Given the description of an element on the screen output the (x, y) to click on. 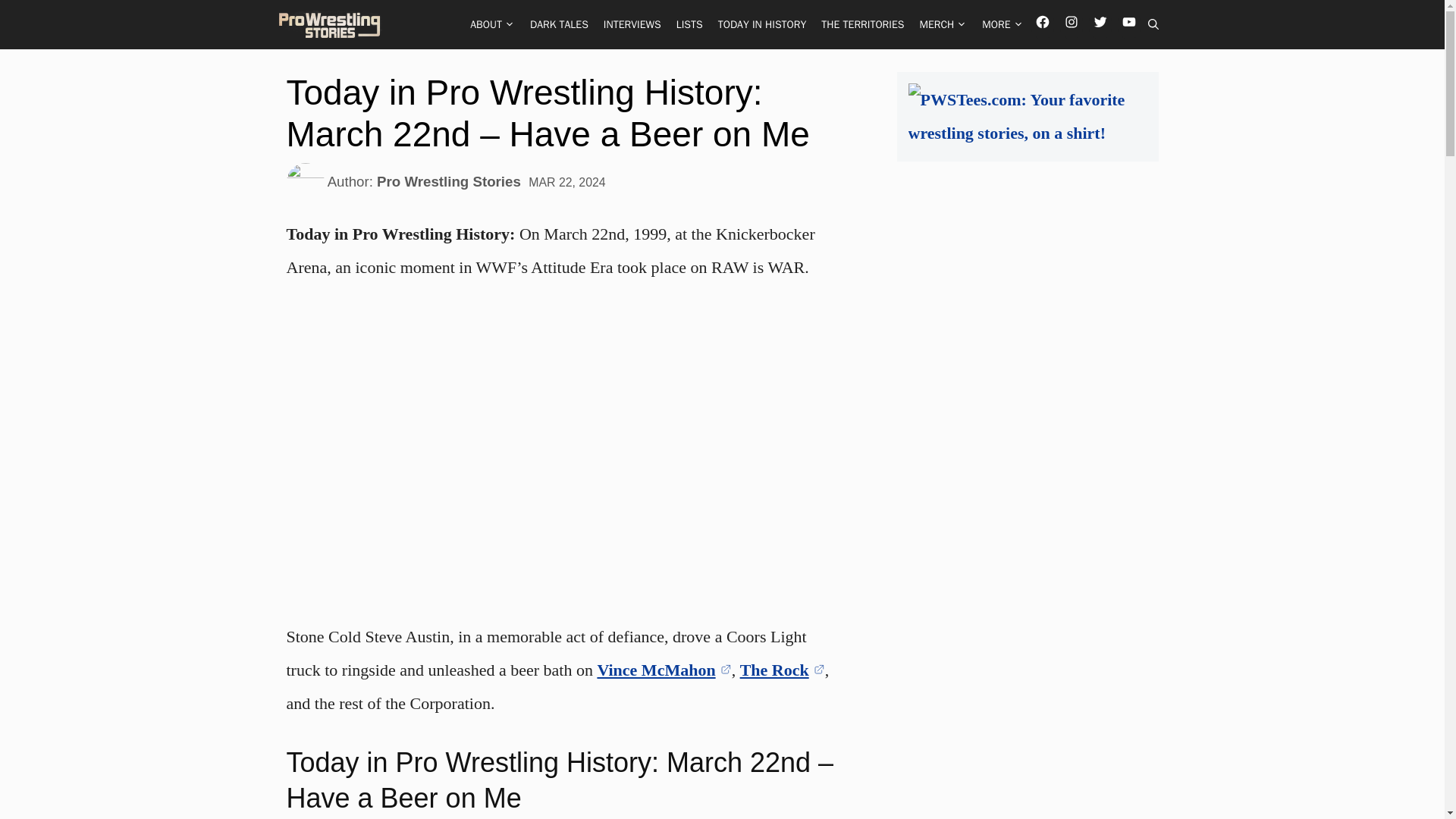
Pro Wrestling Stories (330, 24)
View all posts by Pro Wrestling Stories (449, 181)
